Given the description of an element on the screen output the (x, y) to click on. 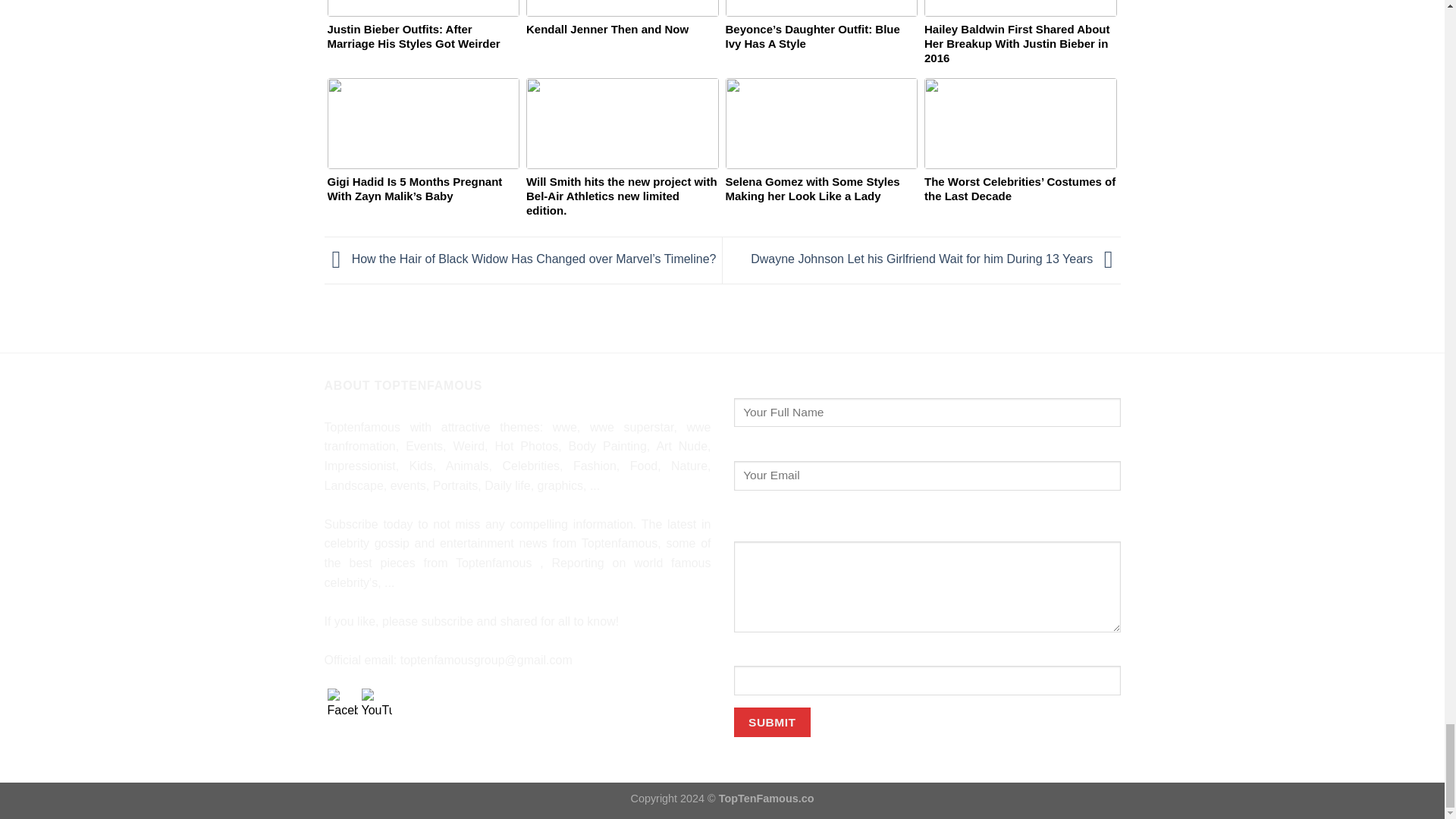
Justin Bieber Outfits: After Marriage His Styles Got Weirder (423, 40)
Facebook (342, 703)
Kendall Jenner Then and Now (622, 40)
YouTube (376, 703)
